Given the description of an element on the screen output the (x, y) to click on. 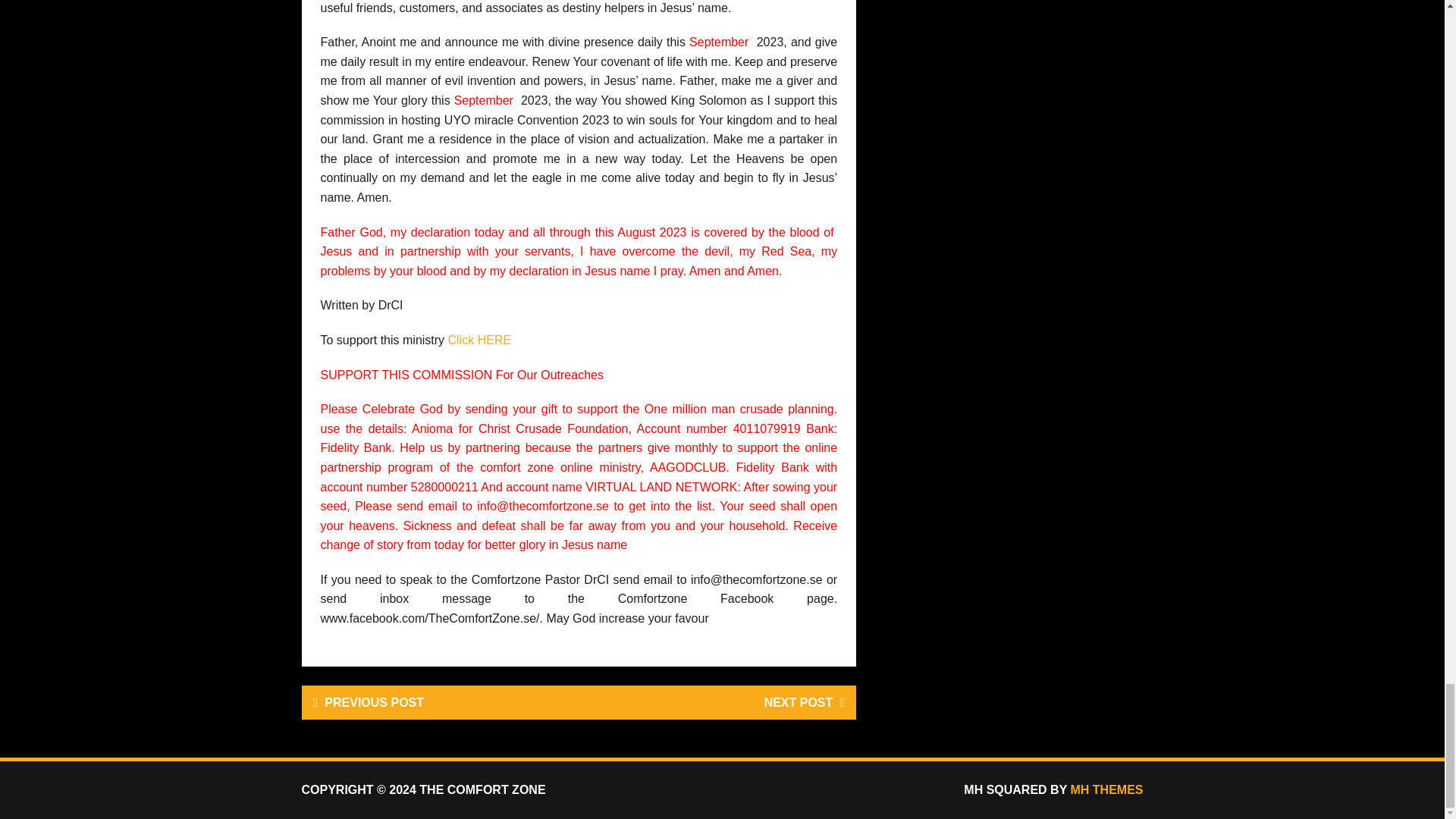
MH THEMES (1106, 789)
Click HERE (480, 339)
PREVIOUS POST (440, 702)
NEXT POST (717, 702)
